Given the description of an element on the screen output the (x, y) to click on. 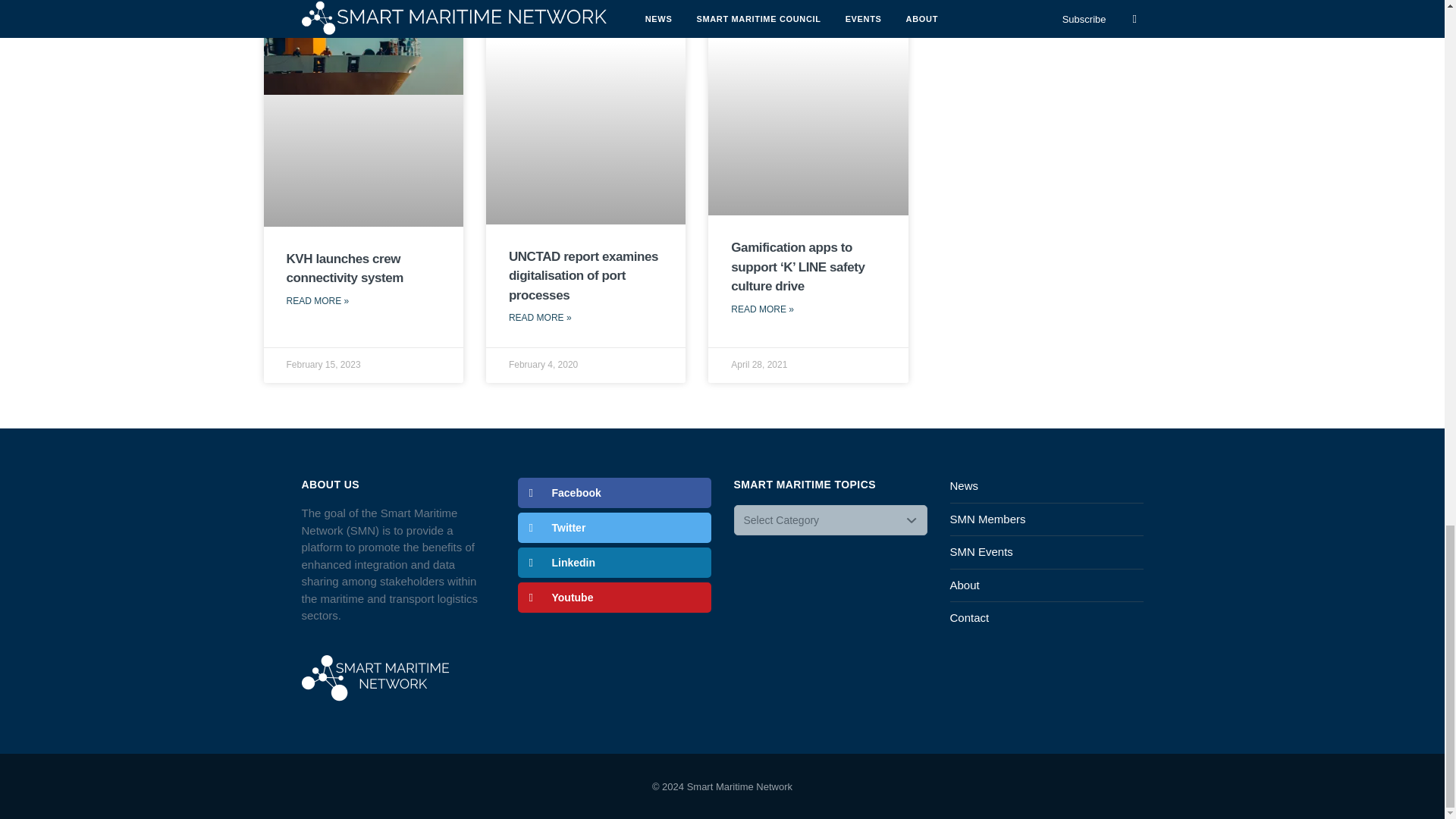
Facebook (613, 492)
Linkedin (613, 562)
Twitter (613, 527)
Youtube (613, 597)
